Given the description of an element on the screen output the (x, y) to click on. 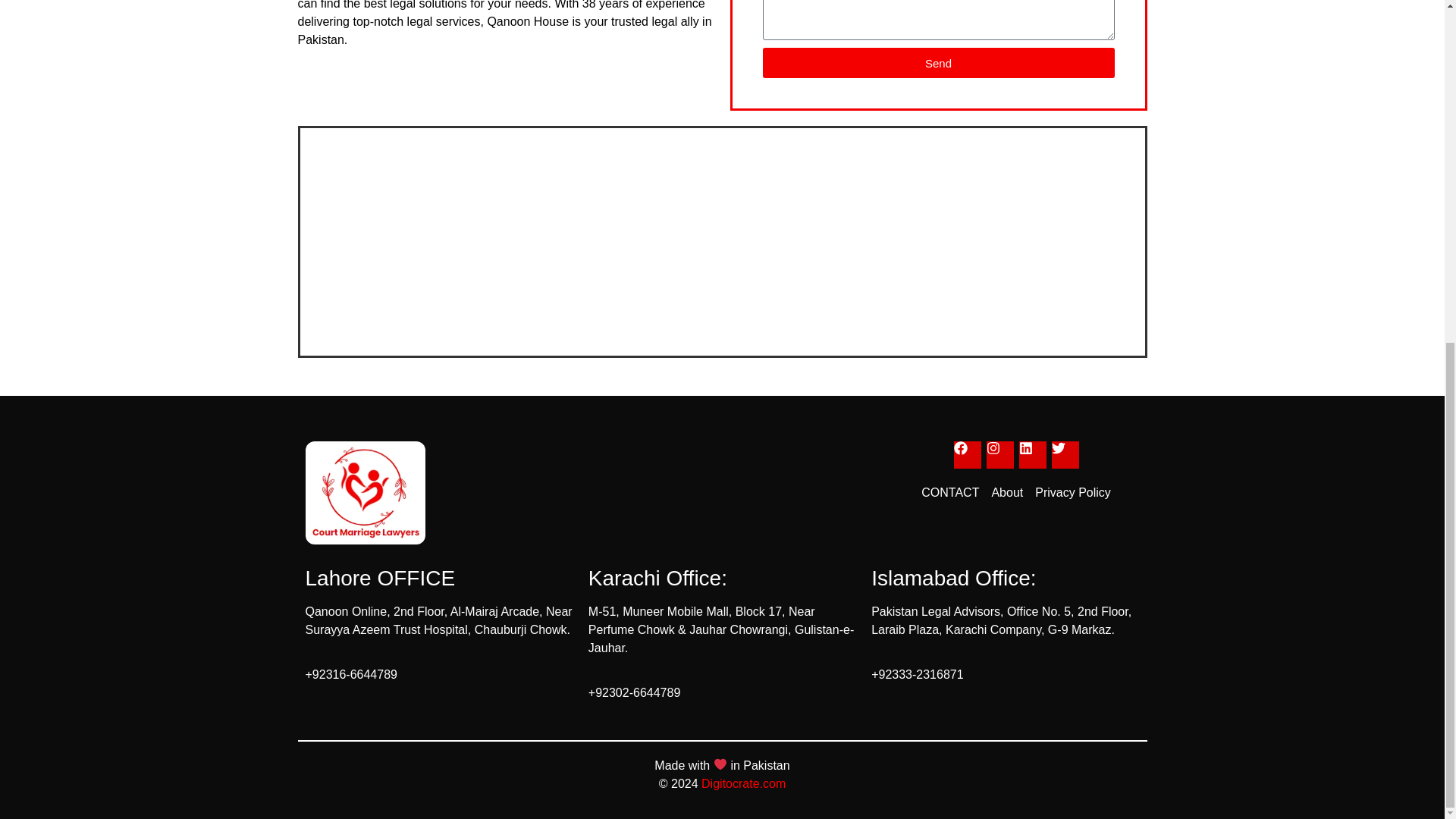
Send (938, 62)
CONTACT (949, 493)
About (1007, 493)
Privacy Policy (1072, 493)
